Given the description of an element on the screen output the (x, y) to click on. 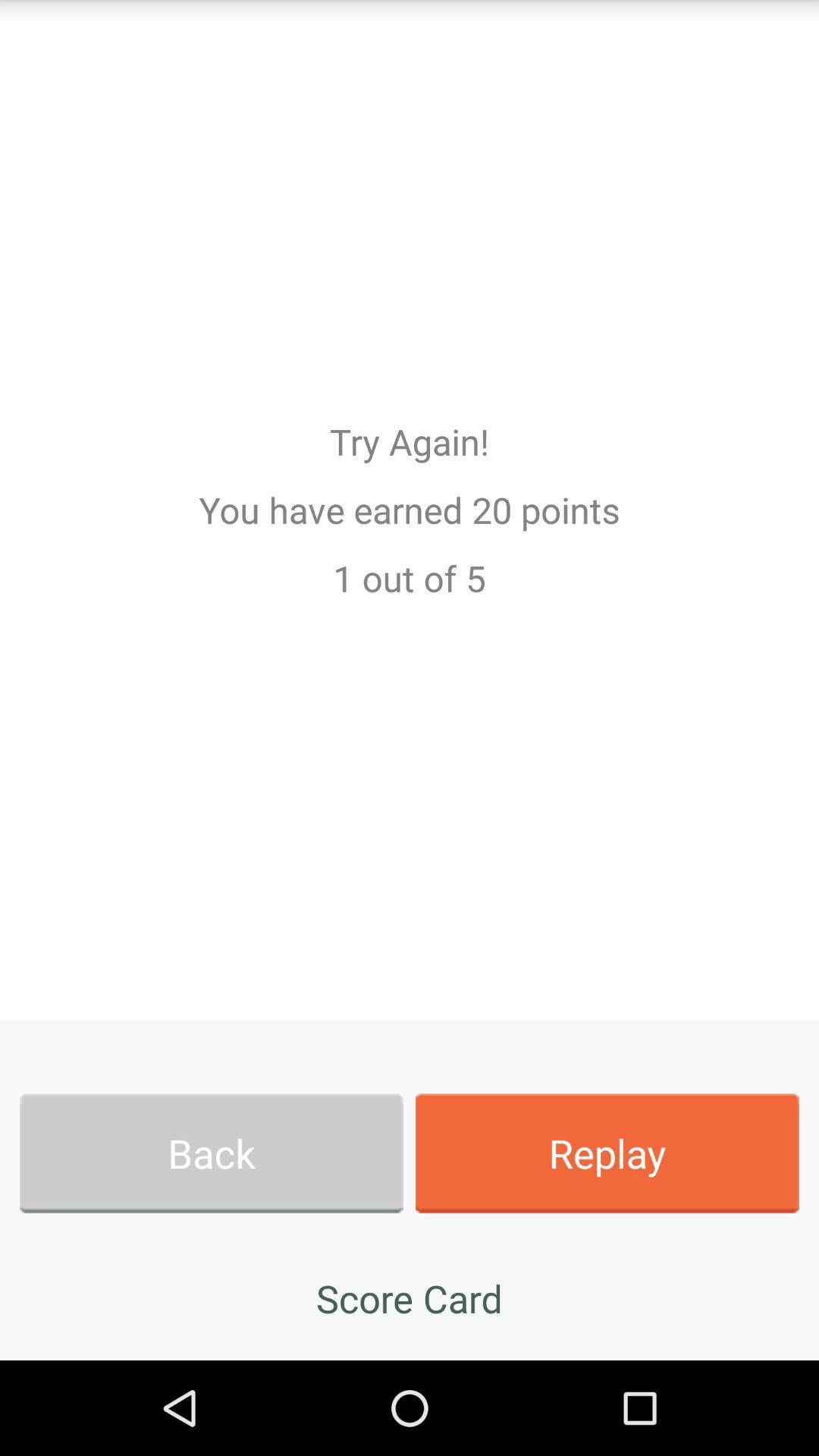
choose the app at the bottom right corner (607, 1153)
